Given the description of an element on the screen output the (x, y) to click on. 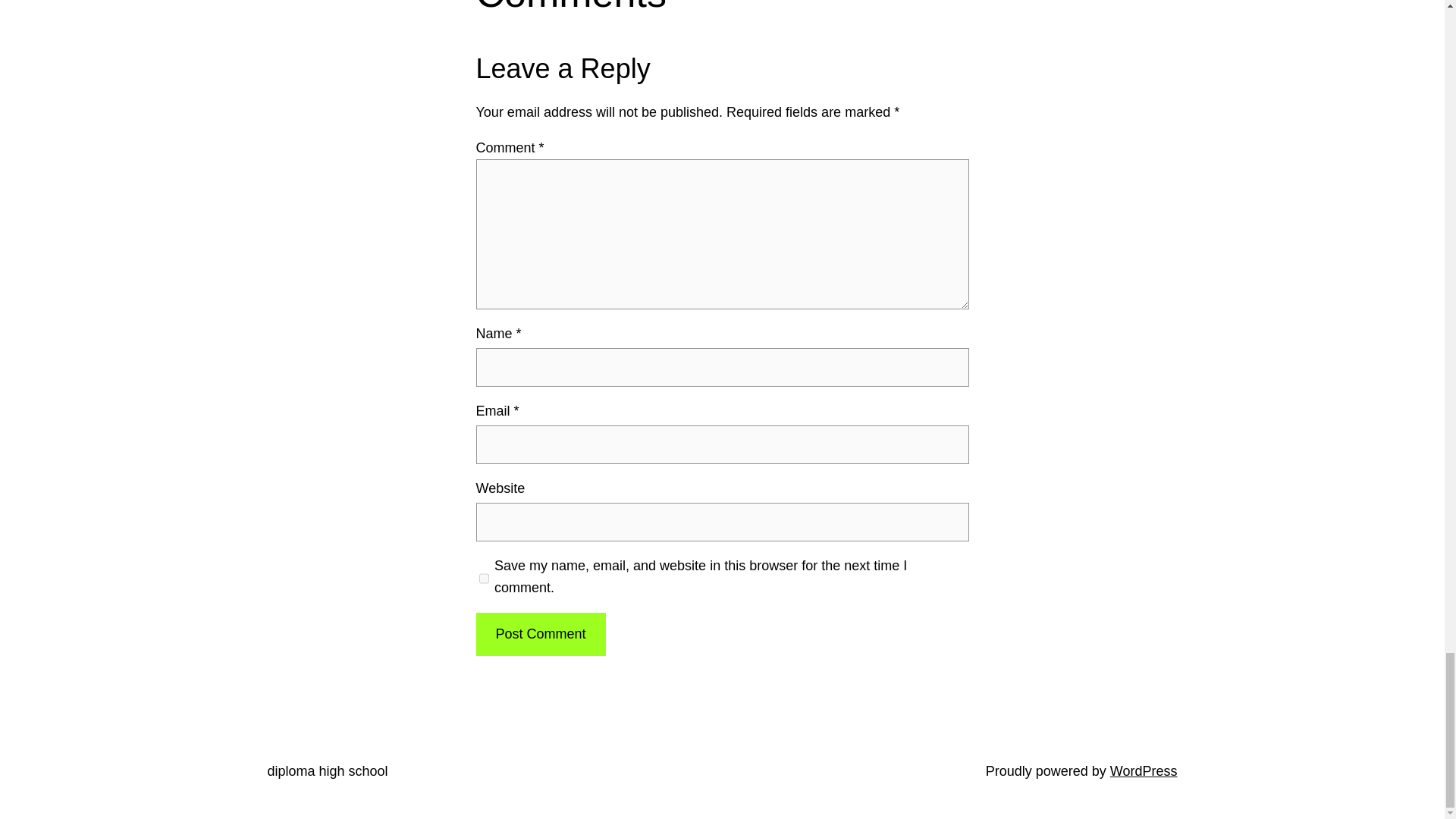
Post Comment (540, 634)
WordPress (1143, 770)
Post Comment (540, 634)
diploma high school (326, 770)
